Given the description of an element on the screen output the (x, y) to click on. 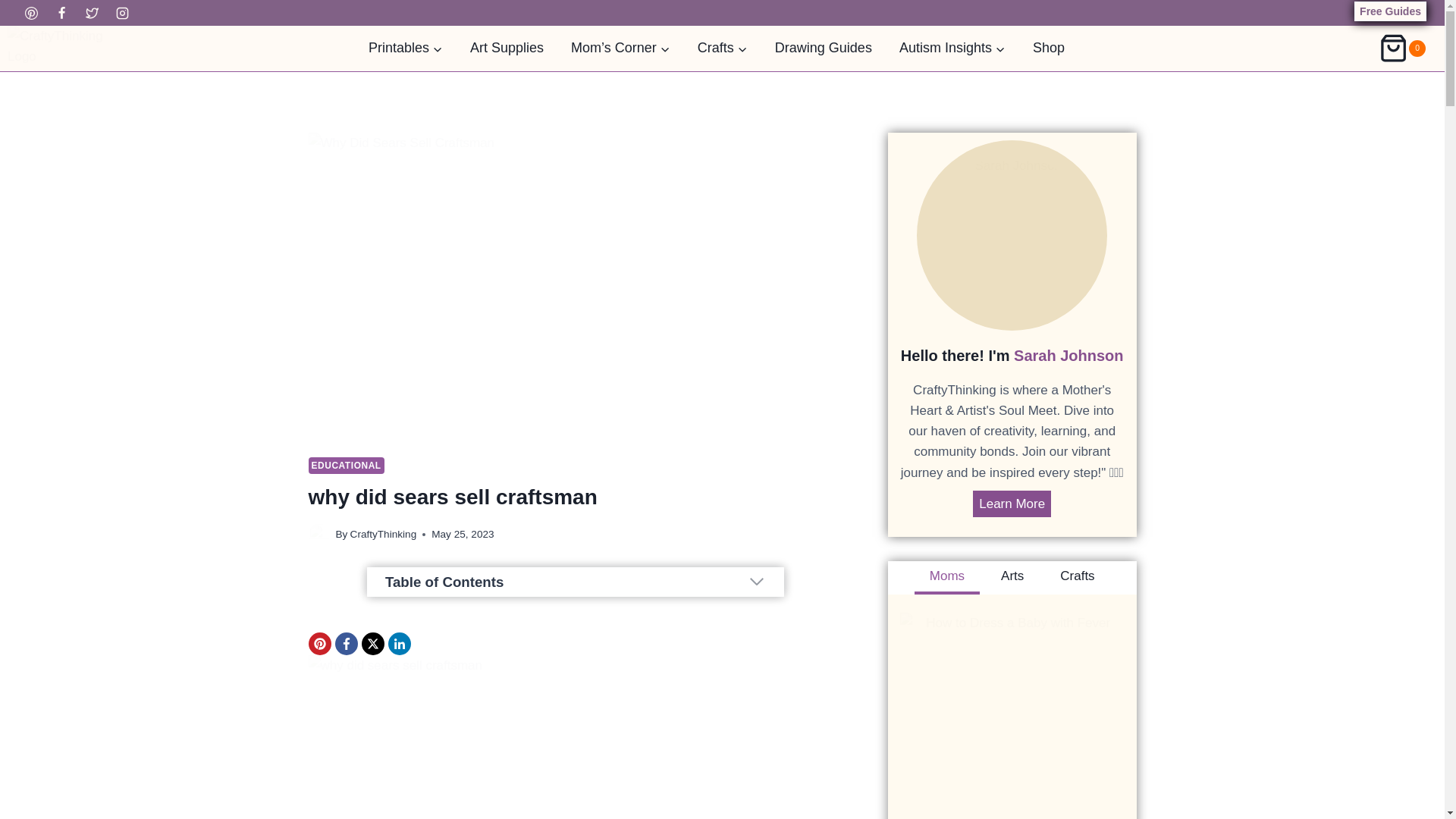
Drawing Guides (823, 48)
Crafts (722, 48)
Autism Insights (952, 48)
Art Supplies (507, 48)
Shop (1048, 48)
Printables (406, 48)
Free Guides (1390, 11)
